Given the description of an element on the screen output the (x, y) to click on. 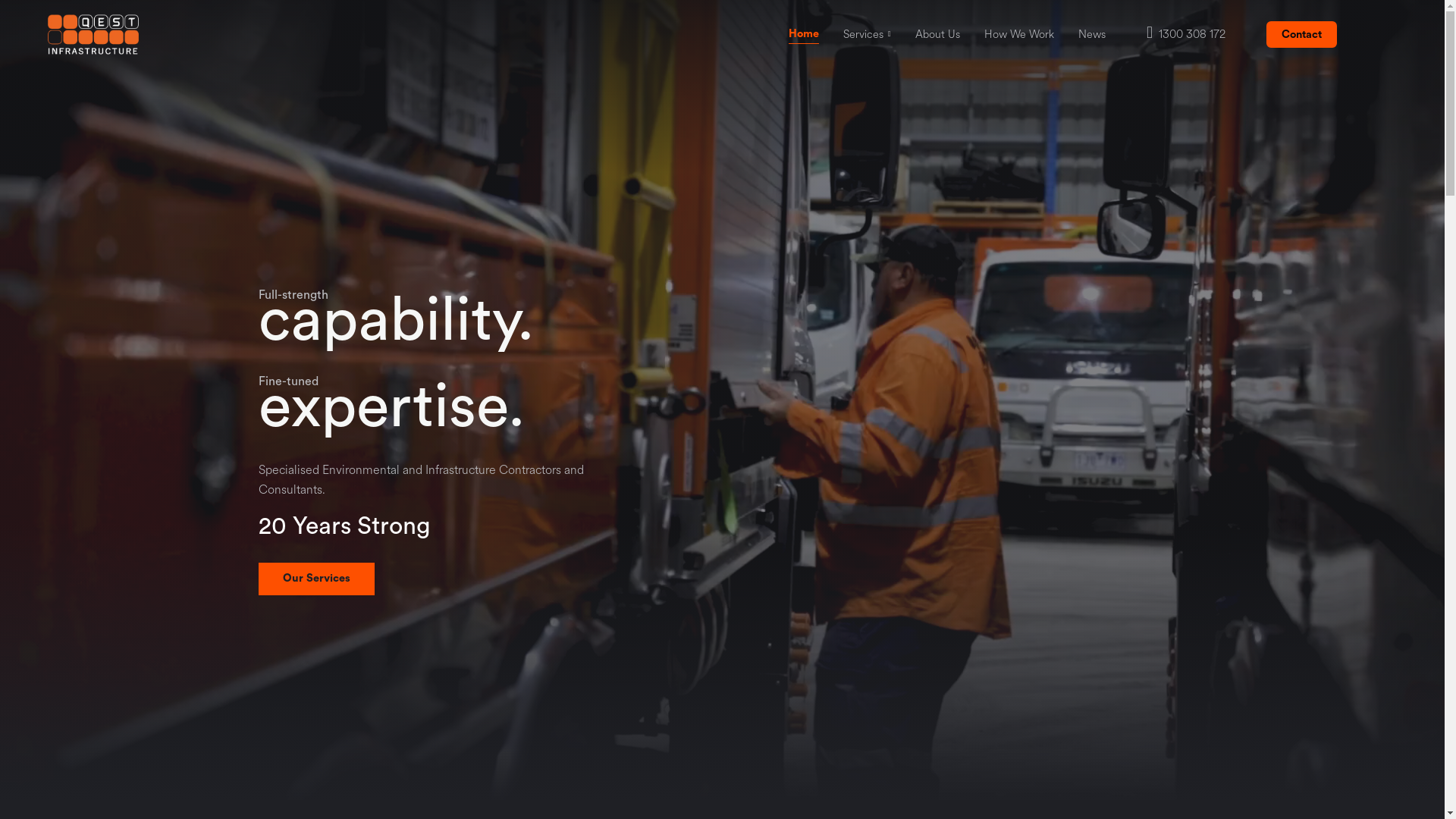
News Element type: text (1091, 33)
About Us Element type: text (937, 33)
How We Work Element type: text (1019, 33)
Our Services Element type: text (315, 578)
Services Element type: text (863, 33)
Home Element type: text (803, 35)
Contact Element type: text (1301, 34)
1300 308 172 Element type: text (1185, 33)
